Given the description of an element on the screen output the (x, y) to click on. 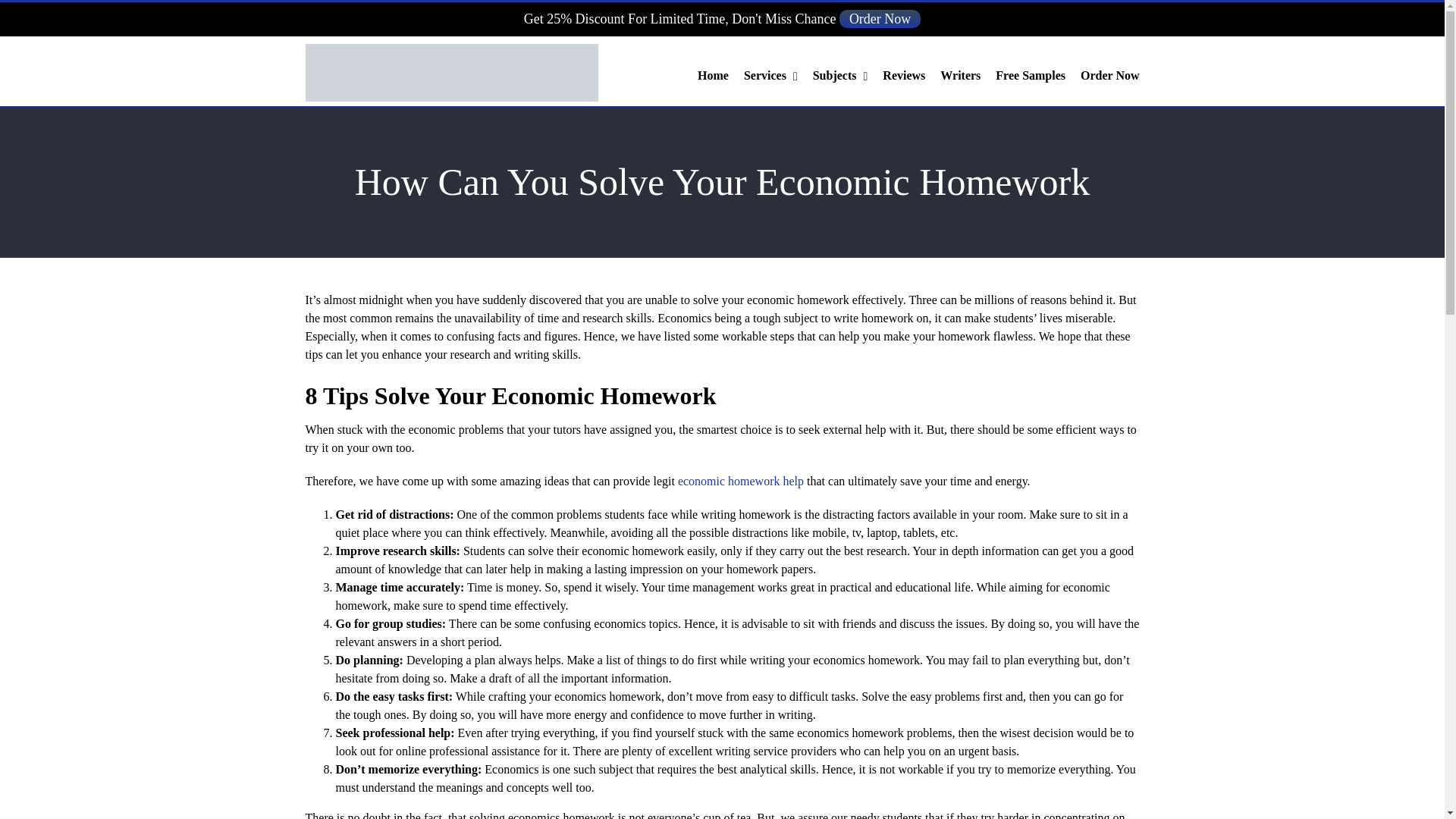
Order Now (880, 18)
Free Samples (1030, 75)
Order Now (1109, 75)
